Given the description of an element on the screen output the (x, y) to click on. 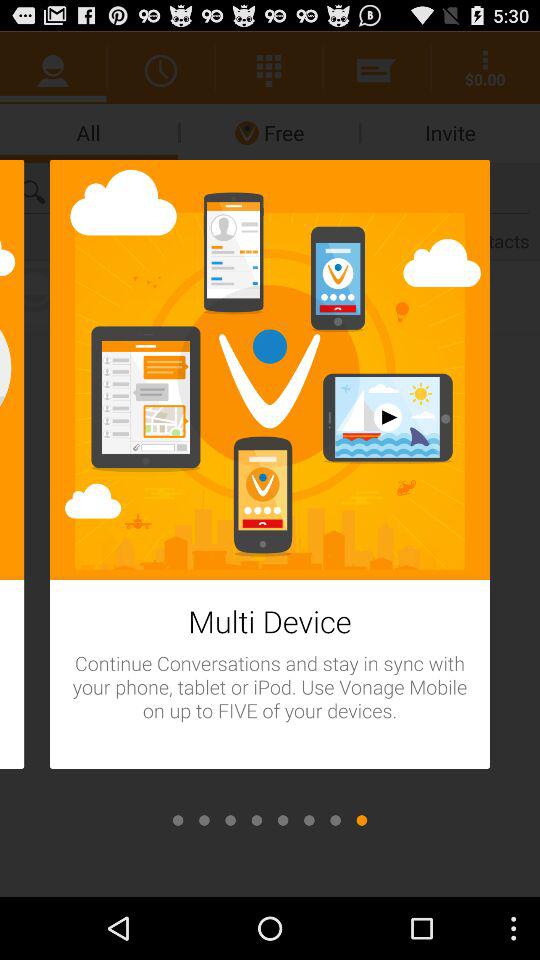
scroll to previous (256, 820)
